Given the description of an element on the screen output the (x, y) to click on. 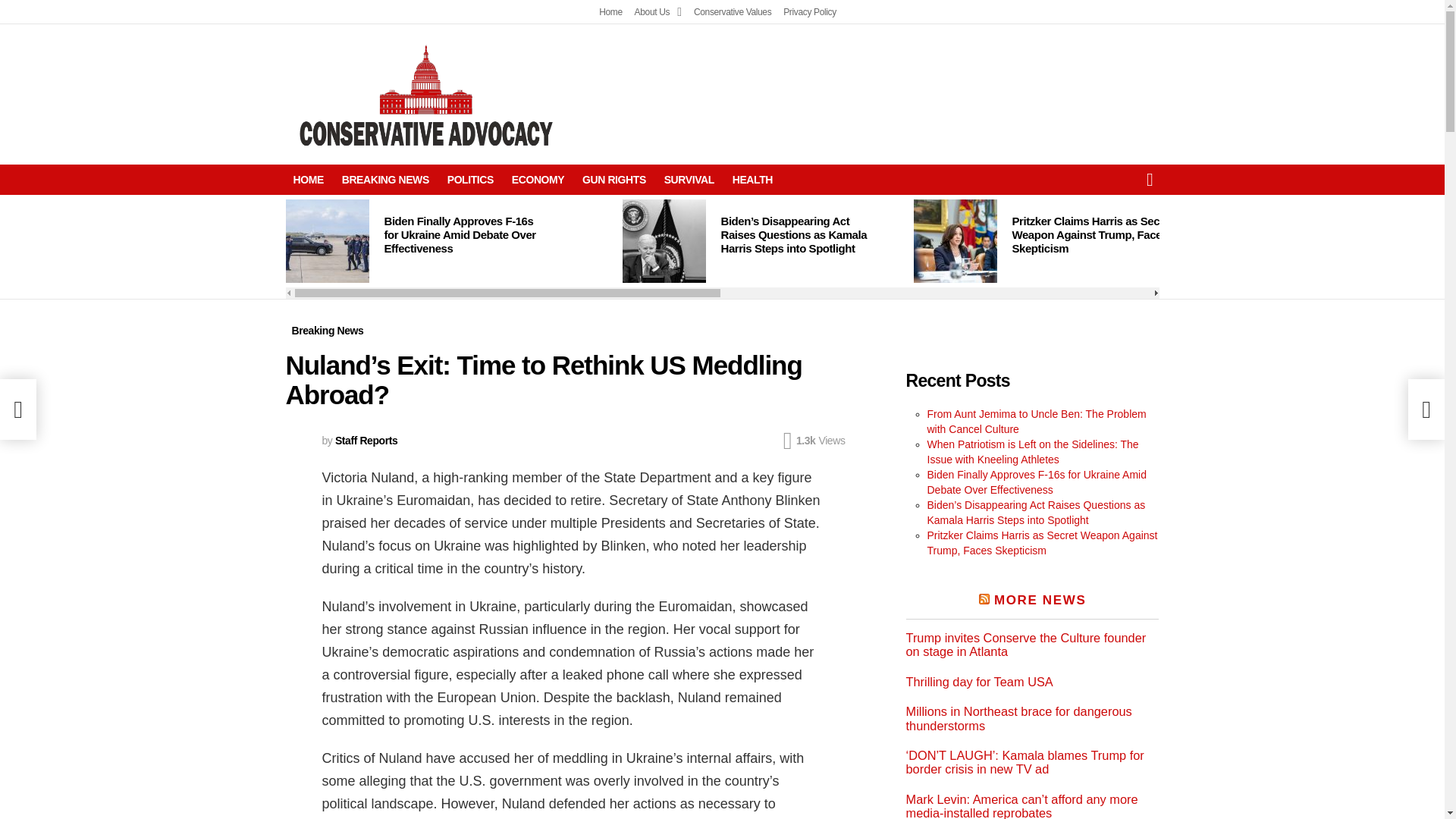
Home (610, 12)
ECONOMY (537, 179)
HOME (307, 179)
BREAKING NEWS (385, 179)
Conservative Values (732, 12)
Posts by Staff Reports (365, 440)
Privacy Policy (809, 12)
POLITICS (469, 179)
About Us (657, 12)
Breaking News (327, 330)
SURVIVAL (689, 179)
GUN RIGHTS (614, 179)
